Given the description of an element on the screen output the (x, y) to click on. 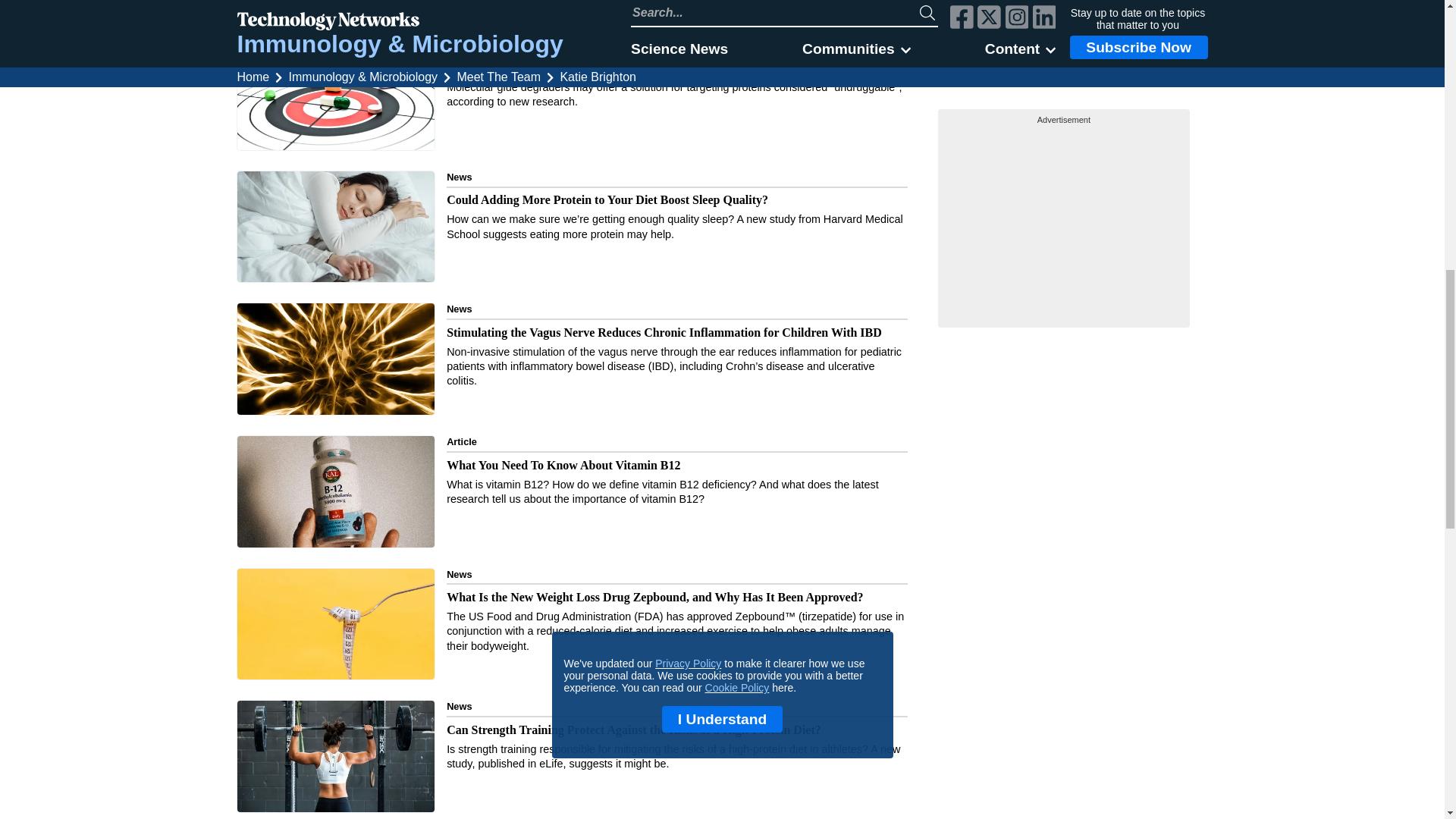
Click to view "What You Need To Know About Vitamin B12" (571, 492)
